Given the description of an element on the screen output the (x, y) to click on. 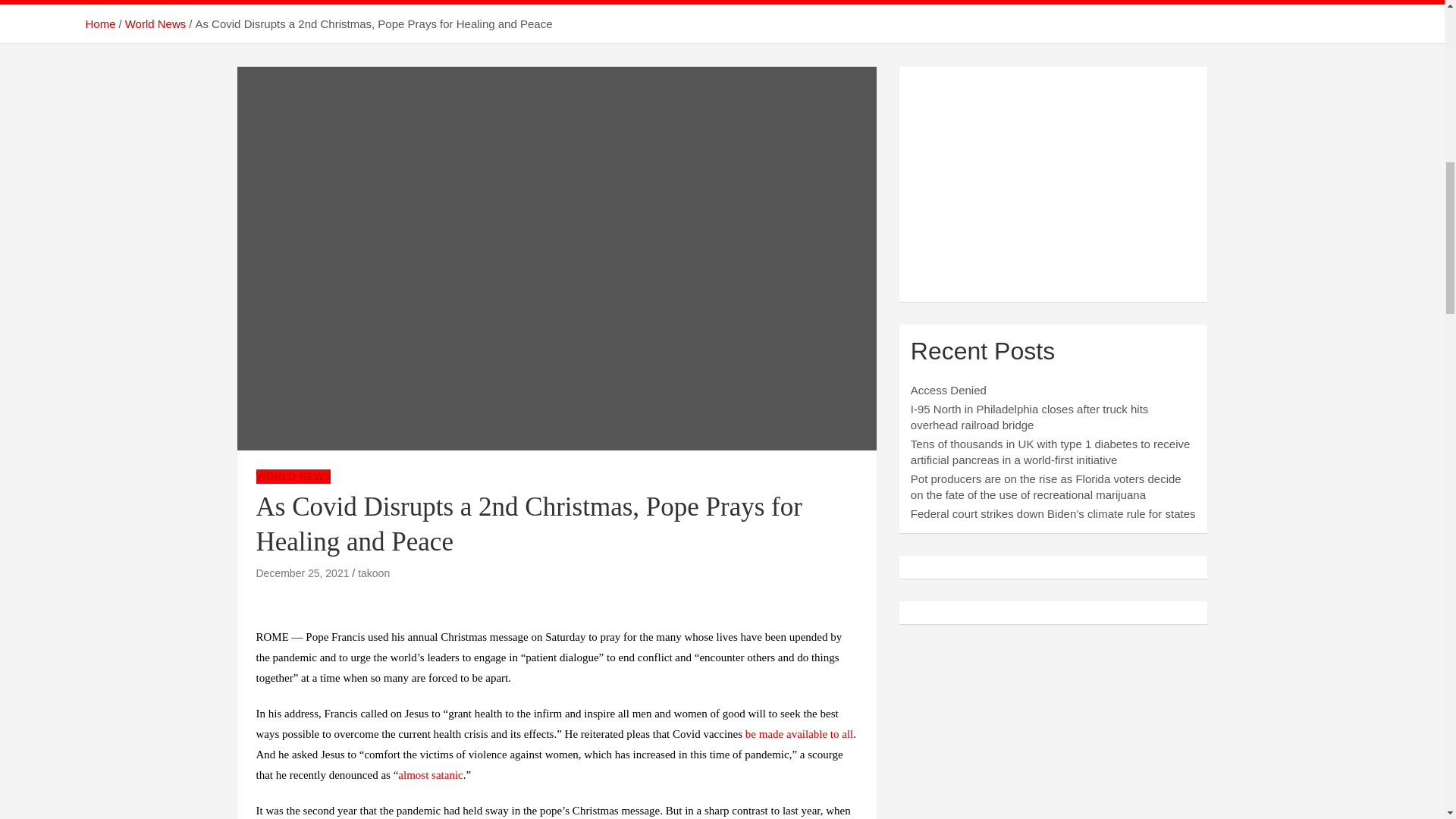
LATEST NEWS (204, 2)
US POLITICS (311, 2)
TEXAS NEWS (753, 2)
be made available to all (799, 734)
WORLD NEWS (417, 2)
takoon (374, 573)
HOME (116, 2)
ENTERTAINMENT (536, 2)
almost satanic (430, 775)
Access Denied (949, 390)
WORLD NEWS (293, 476)
